Given the description of an element on the screen output the (x, y) to click on. 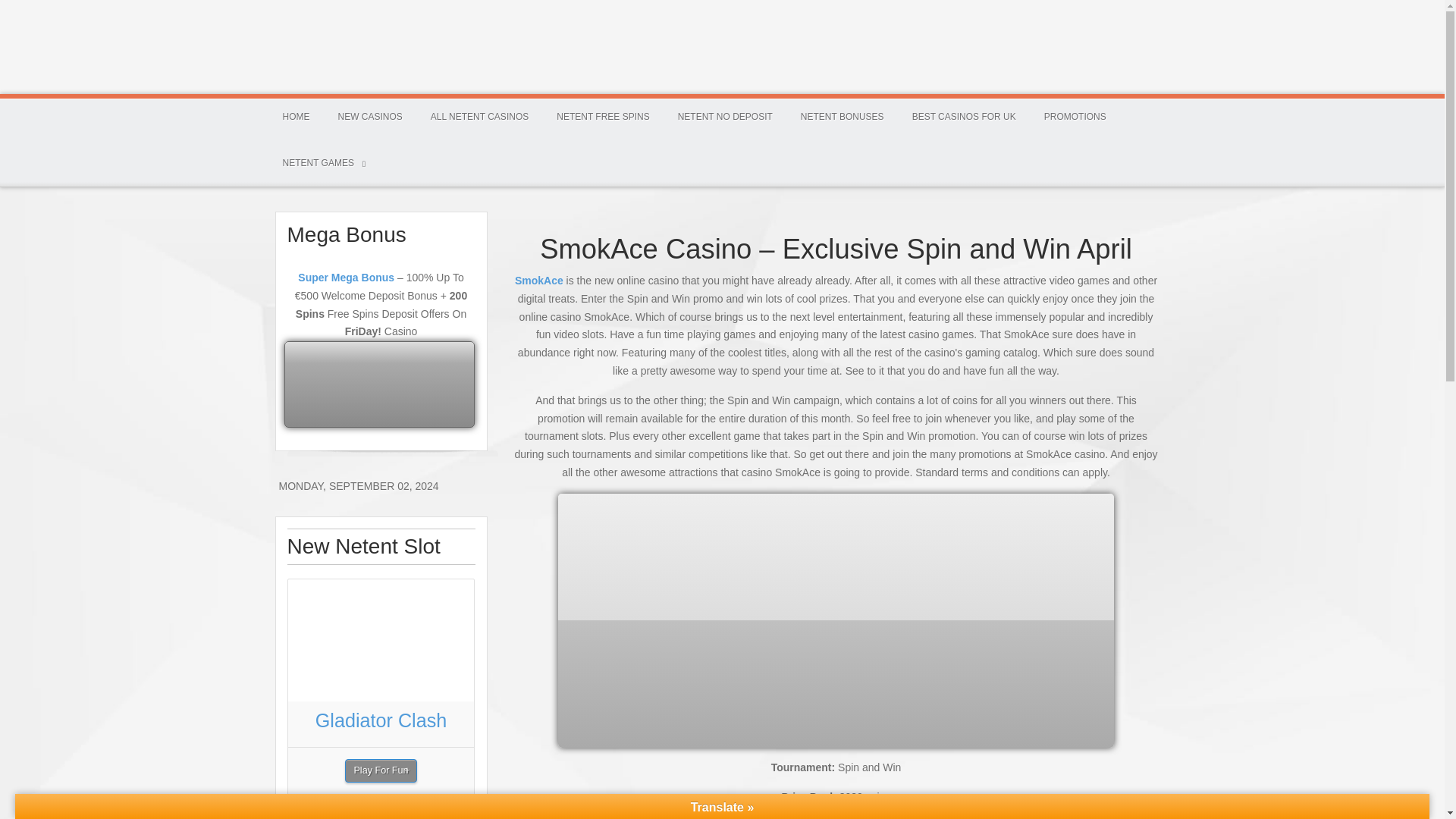
PROMOTIONS (1074, 117)
HOME (295, 117)
NETENT BONUSES (842, 117)
Gladiator Clash (380, 720)
Play For Fun (380, 770)
NETENT GAMES (321, 163)
SmokAce (539, 280)
Super Mega Bonus (346, 277)
ALL NETENT CASINOS (478, 117)
BEST CASINOS FOR UK (963, 117)
